Given the description of an element on the screen output the (x, y) to click on. 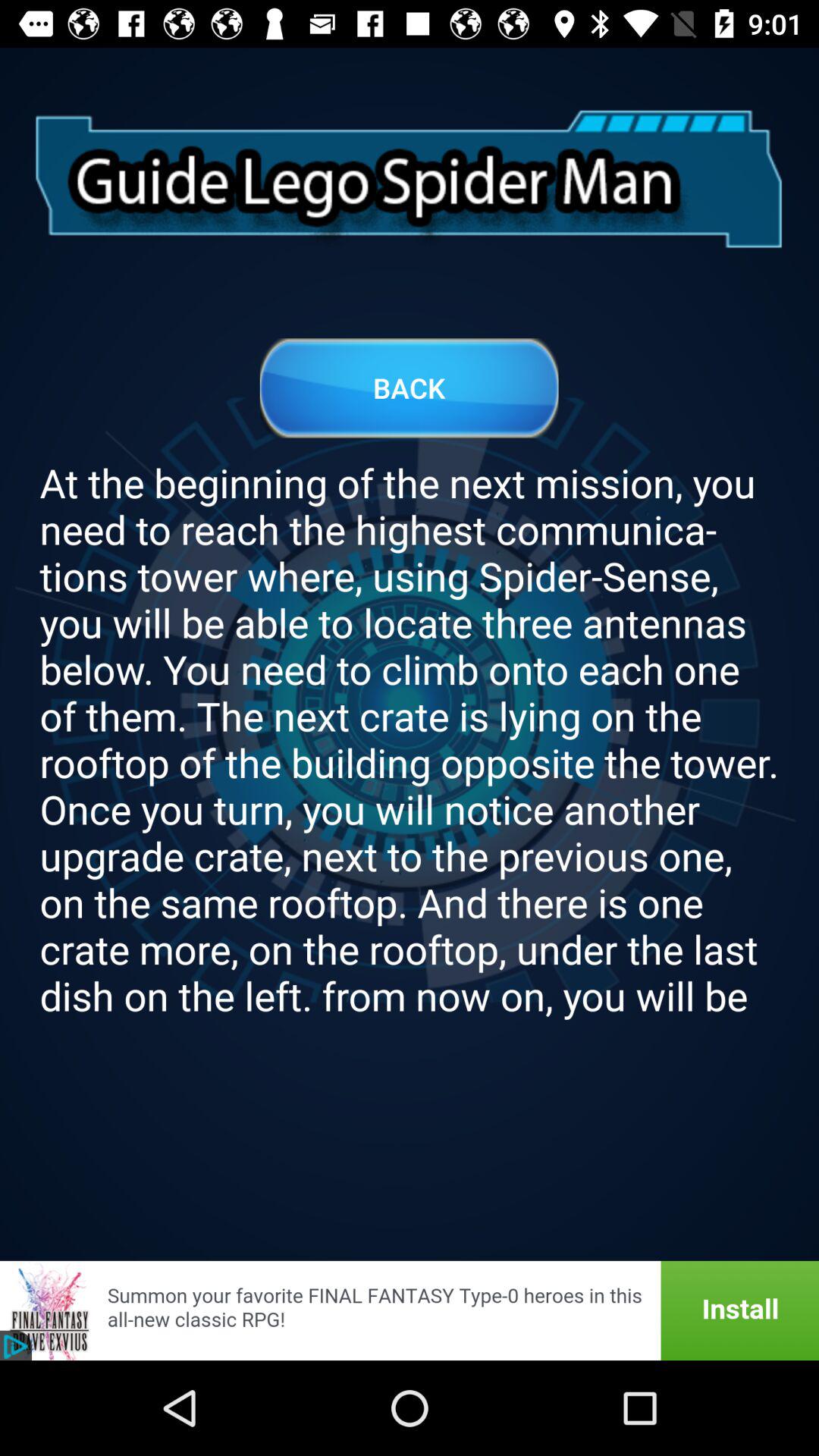
install the app (409, 1310)
